Given the description of an element on the screen output the (x, y) to click on. 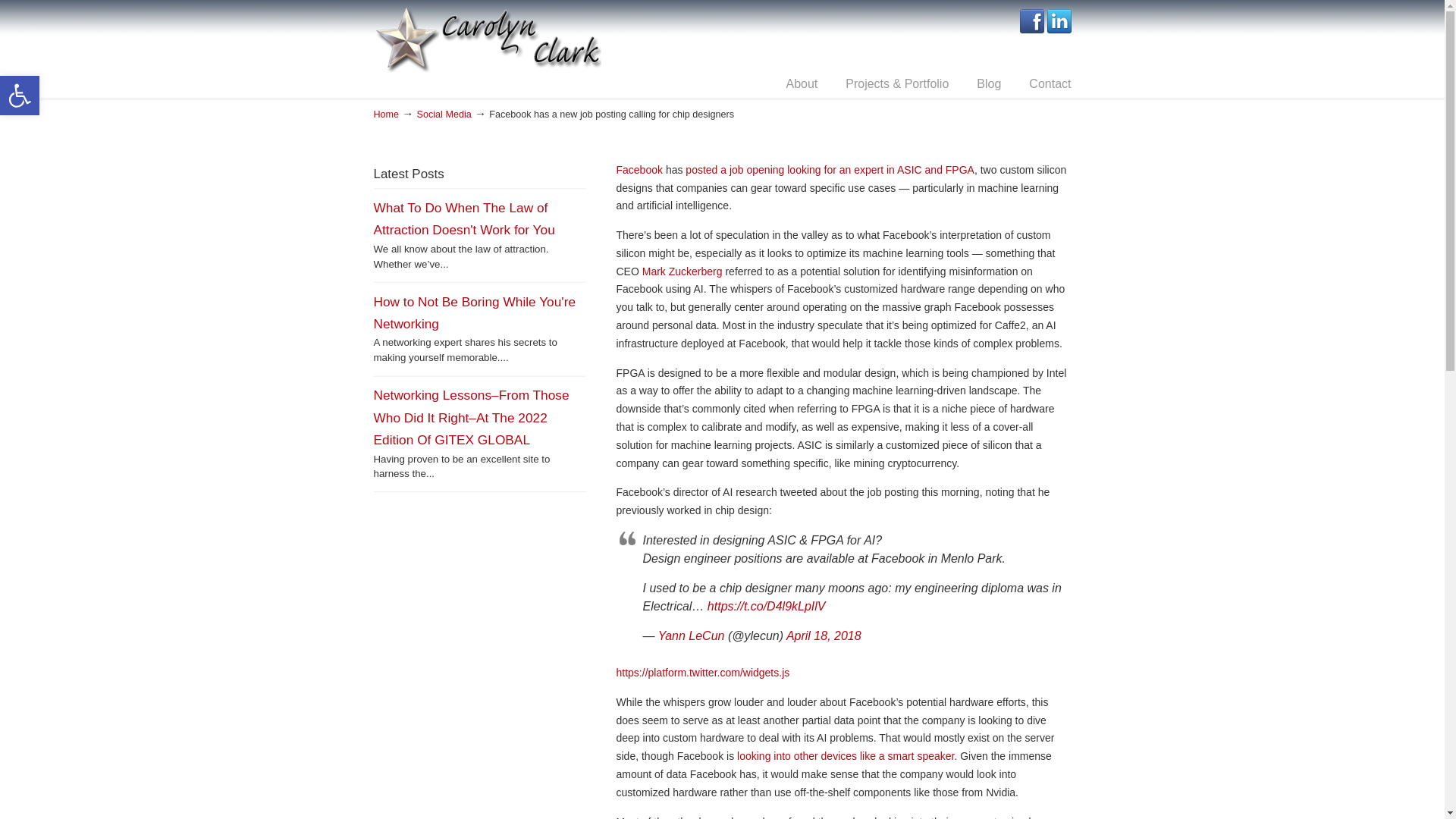
April 18, 2018 (823, 635)
How to Not Be Boring While You're Networking (473, 312)
Social Media (443, 113)
Accessibility Tools (19, 95)
Accessibility Tools (19, 95)
Contact (1049, 83)
What To Do When The Law of Attraction Doesn't Work for You (463, 218)
looking into other devices like a smart speaker (844, 756)
Yann LeCun (693, 635)
Mark Zuckerberg (683, 271)
